Given the description of an element on the screen output the (x, y) to click on. 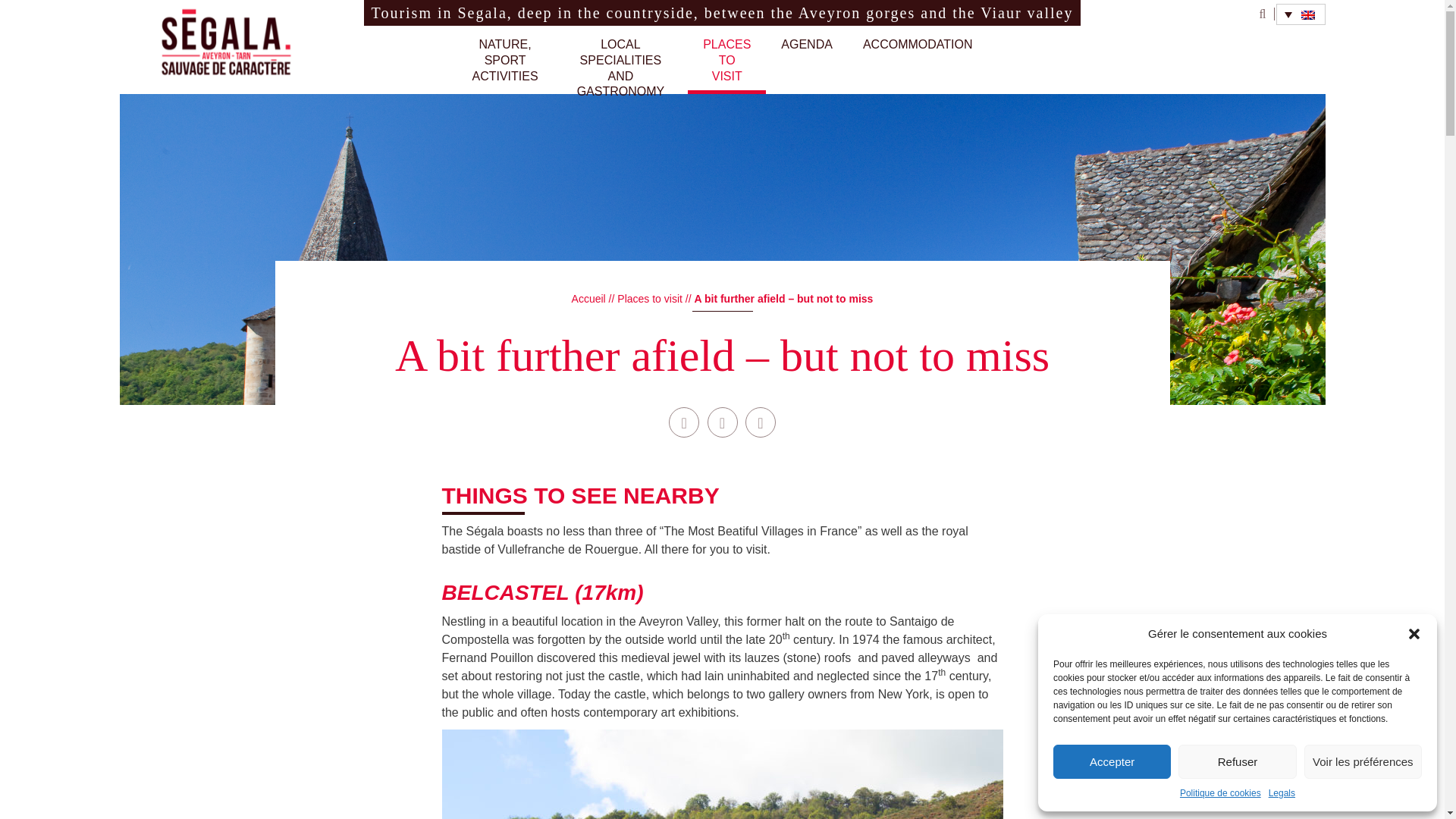
Politique de cookies (1219, 793)
AGENDA (806, 65)
LOCAL SPECIALITIES AND GASTRONOMY (620, 65)
Accepter (1111, 761)
Share on Twitter (721, 422)
Refuser (1236, 761)
Legals (1281, 793)
Print the page (505, 65)
PLACES TO VISIT (760, 422)
Share on Facebook (726, 65)
